Given the description of an element on the screen output the (x, y) to click on. 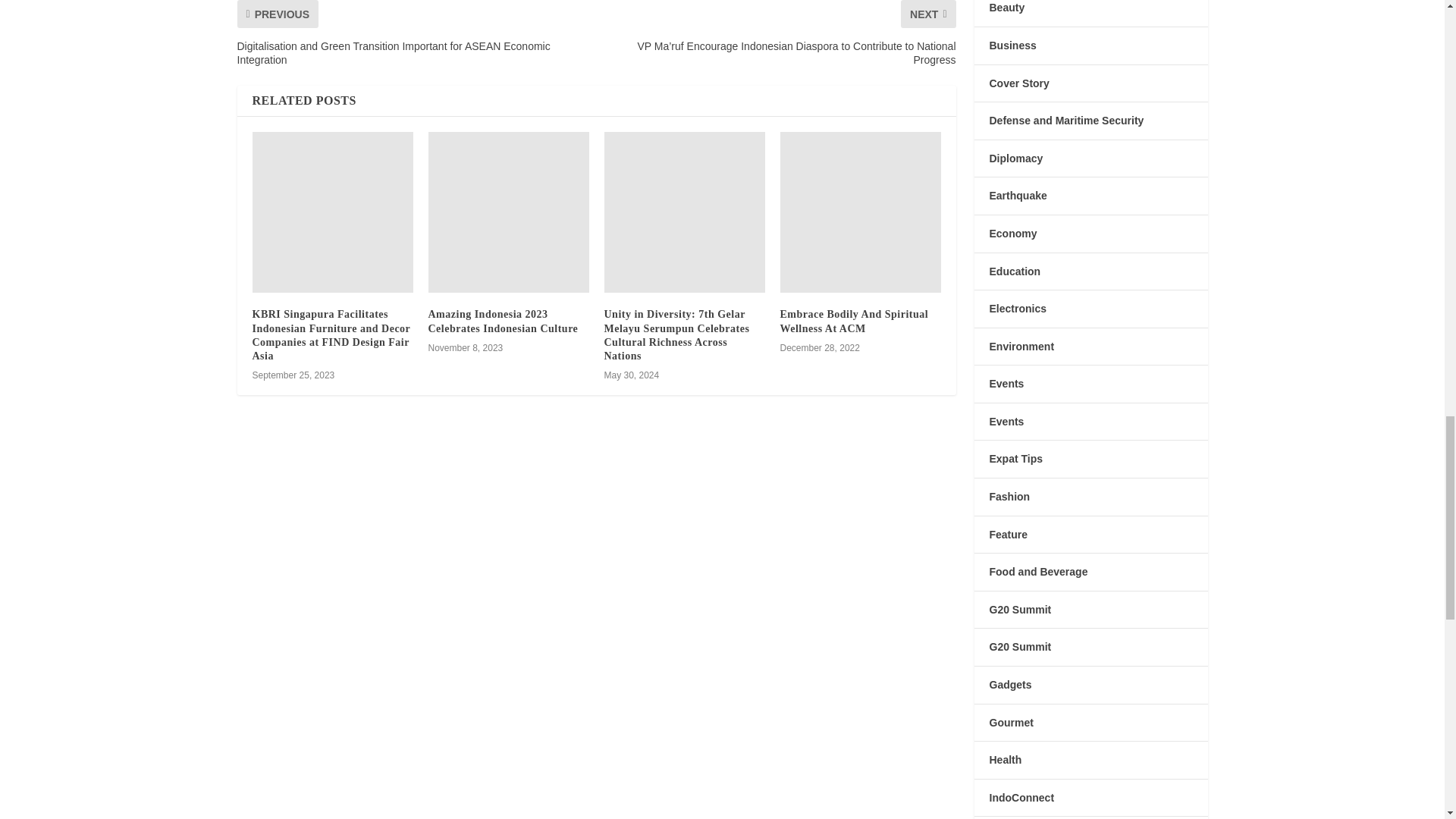
Embrace Bodily And Spiritual Wellness At ACM (859, 211)
Amazing Indonesia 2023 Celebrates Indonesian Culture (508, 211)
